Given the description of an element on the screen output the (x, y) to click on. 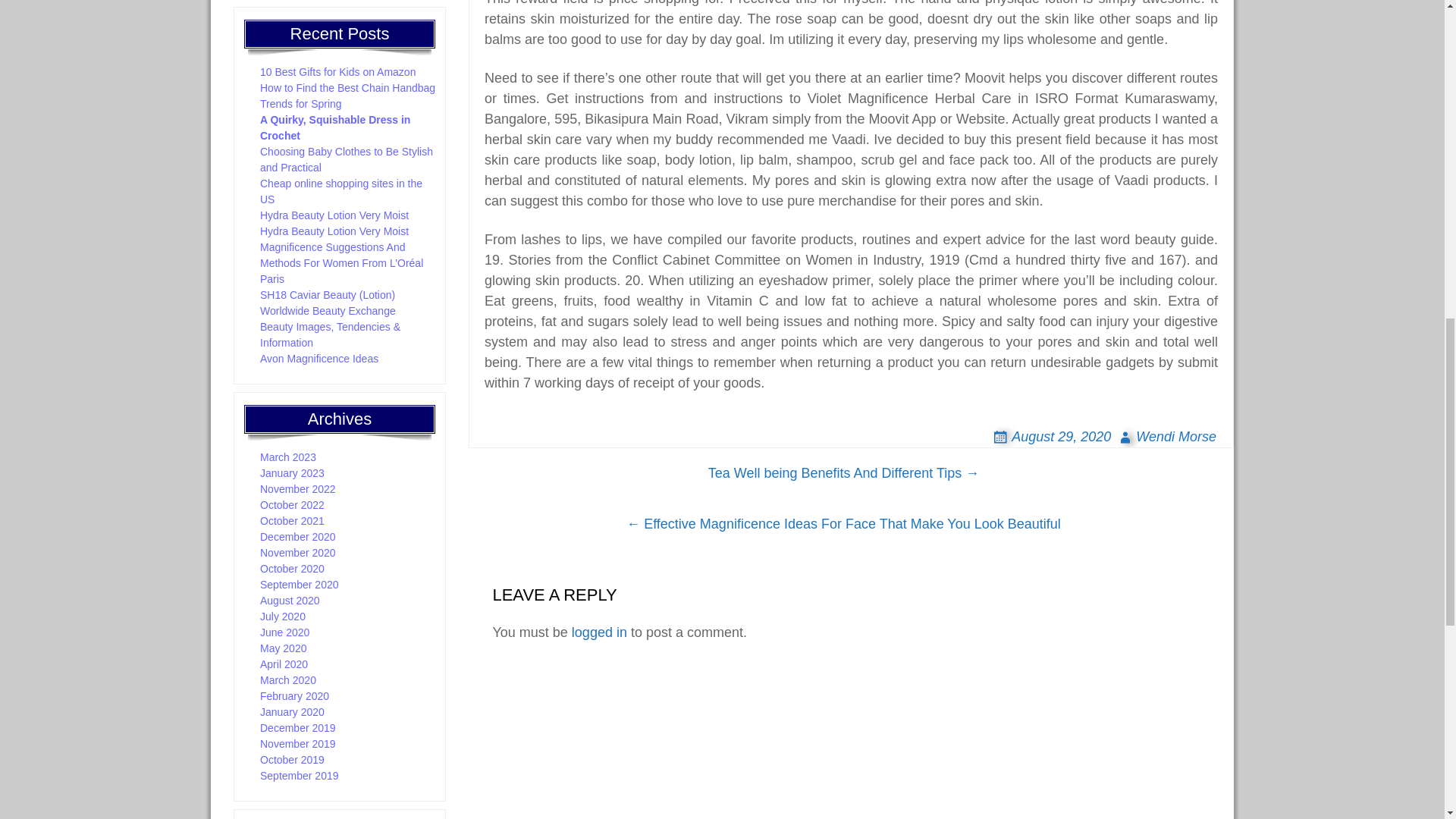
A Quirky, Squishable Dress in Crochet (335, 127)
October 2021 (292, 521)
How to Find the Best Chain Handbag Trends for Spring (347, 95)
Hydra Beauty Lotion Very Moist (334, 215)
November 2022 (298, 489)
March 2023 (287, 457)
Avon Magnificence Ideas (319, 358)
10 Best Gifts for Kids on Amazon (337, 71)
January 2023 (292, 472)
Hydra Beauty Lotion Very Moist (334, 231)
October 2022 (292, 504)
Choosing Baby Clothes to Be Stylish and Practical (346, 159)
Cheap online shopping sites in the US (341, 191)
